Given the description of an element on the screen output the (x, y) to click on. 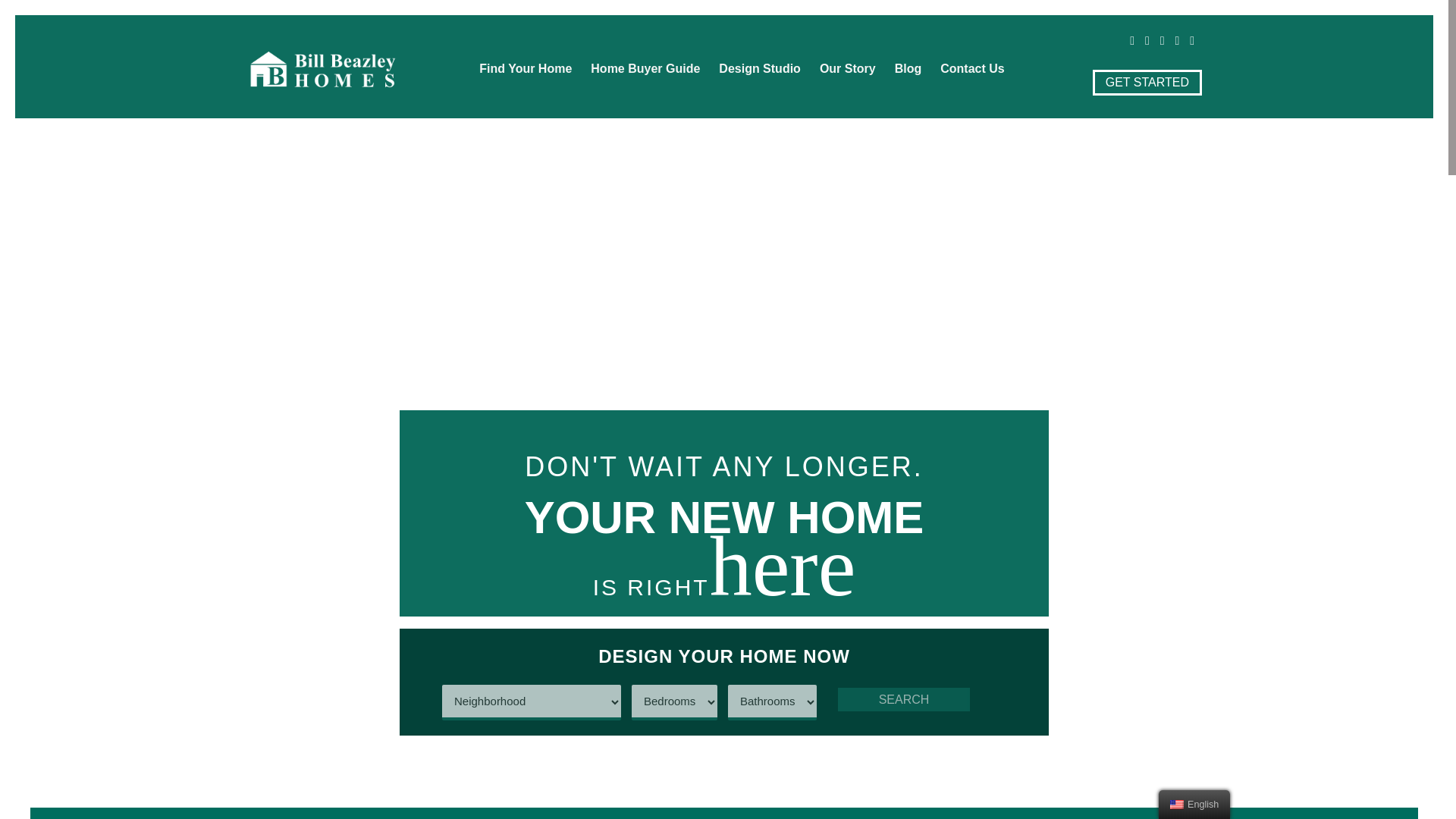
Find Your Home (525, 69)
Our Story (847, 69)
Blog (908, 69)
SEARCH (903, 699)
Design Studio (759, 69)
Home Buyer Guide (644, 69)
Contact Us (972, 69)
GET STARTED (1147, 82)
Bill Beazley Homes Logo White (322, 68)
